Given the description of an element on the screen output the (x, y) to click on. 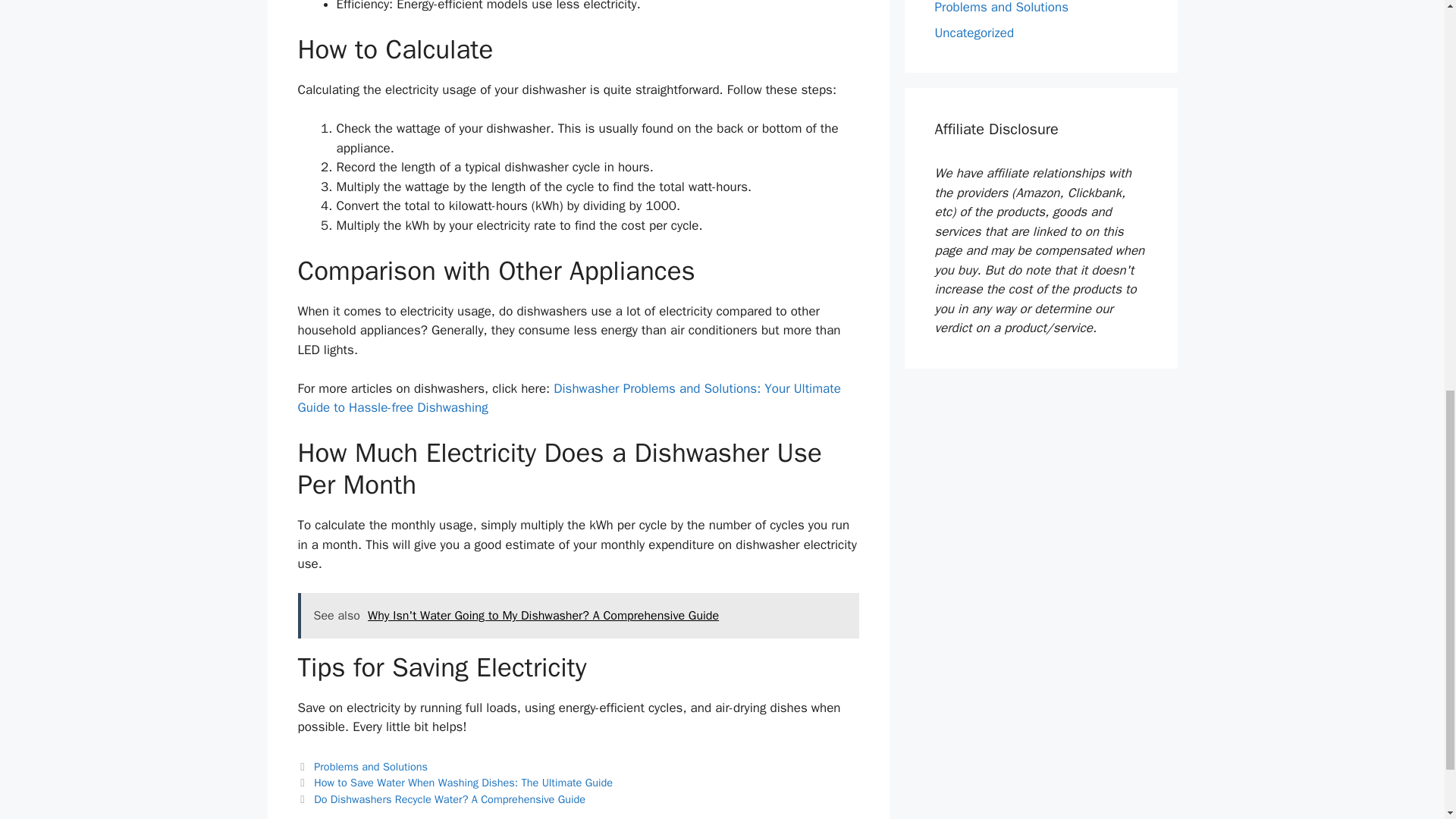
Do Dishwashers Recycle Water? A Comprehensive Guide (449, 798)
Problems and Solutions (1001, 7)
How to Save Water When Washing Dishes: The Ultimate Guide (463, 782)
Uncategorized (973, 32)
Problems and Solutions (371, 766)
